Given the description of an element on the screen output the (x, y) to click on. 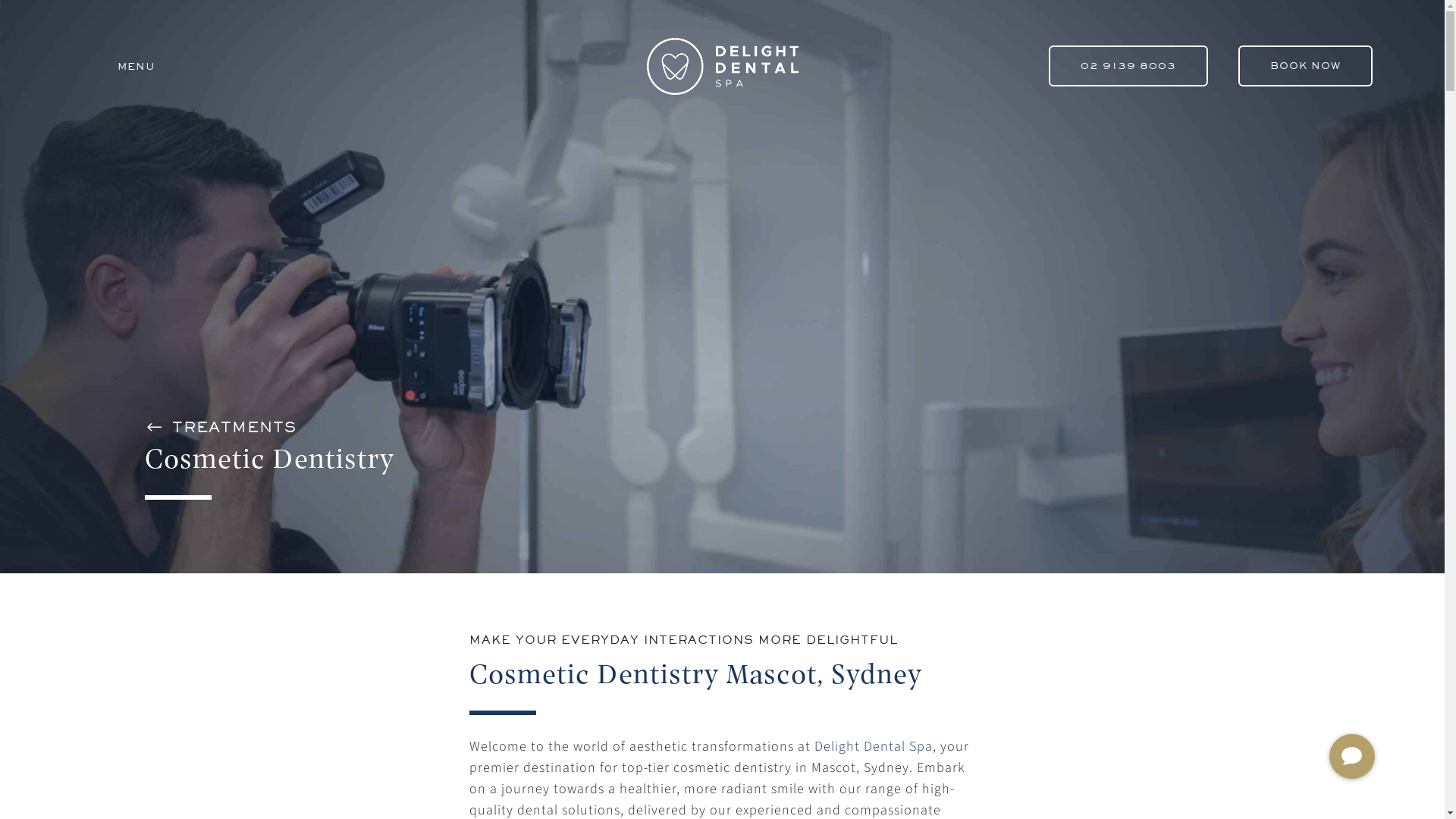
TREATMENTS Element type: text (233, 427)
Delight Dental Spa Element type: text (871, 746)
Delight Dental Spa Logo White Element type: hover (721, 65)
Search Element type: text (562, 793)
02 9139 8003 Element type: text (1128, 65)
BOOK NOW Element type: text (1305, 65)
